Given the description of an element on the screen output the (x, y) to click on. 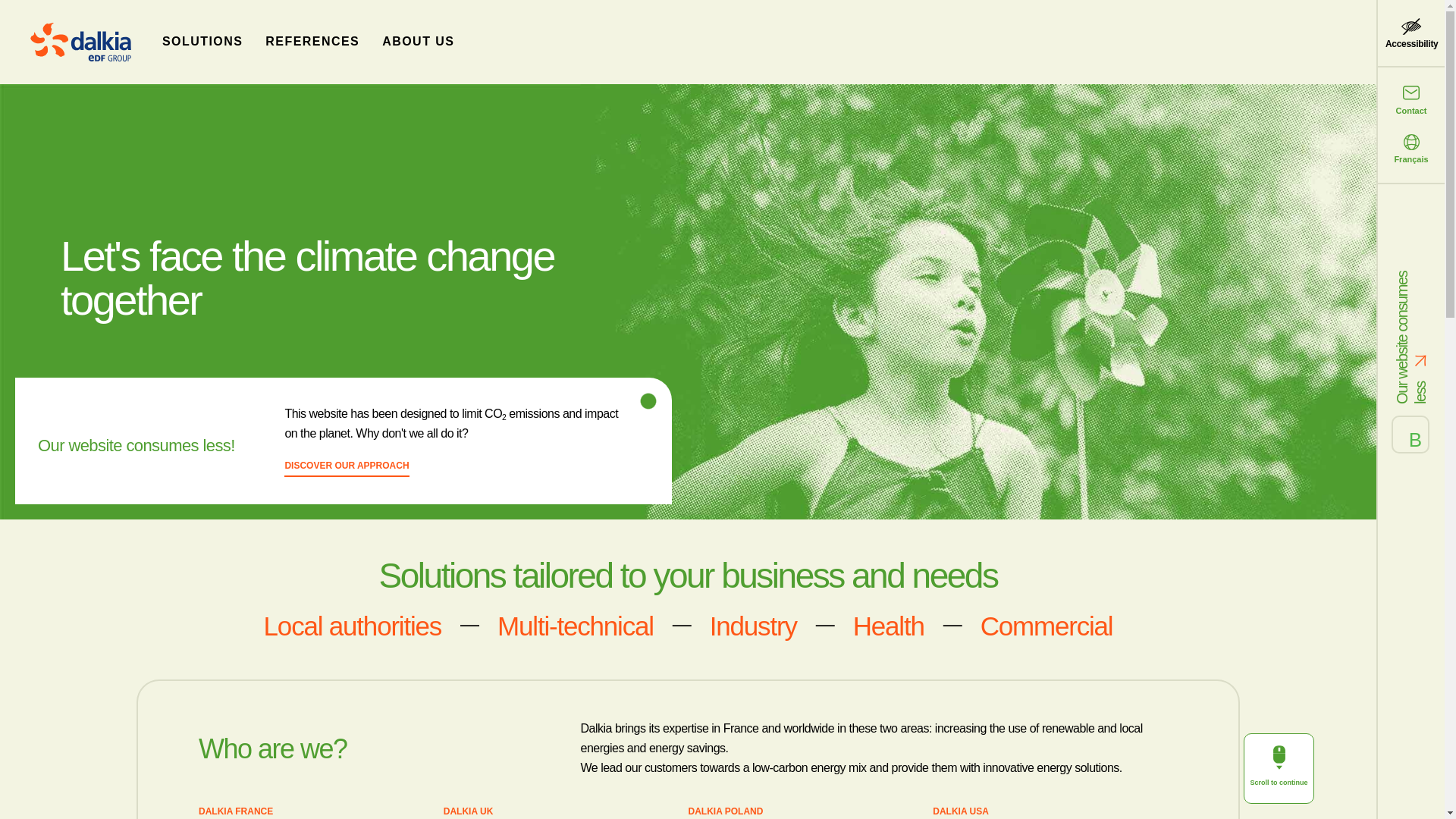
ABOUT US (418, 41)
Health (888, 625)
Dalkia France - New window (235, 812)
Industry (753, 625)
DALKIA FRANCE (235, 812)
Our website consumes less (1411, 324)
Local authorities (351, 625)
SOLUTIONS (202, 41)
DALKIA POLAND (725, 812)
Commercial (1046, 625)
Multi-technical (574, 625)
REFERENCES (312, 41)
DISCOVER OUR APPROACH (346, 468)
DALKIA USA (960, 812)
Dalkia UK - New window (468, 812)
